Given the description of an element on the screen output the (x, y) to click on. 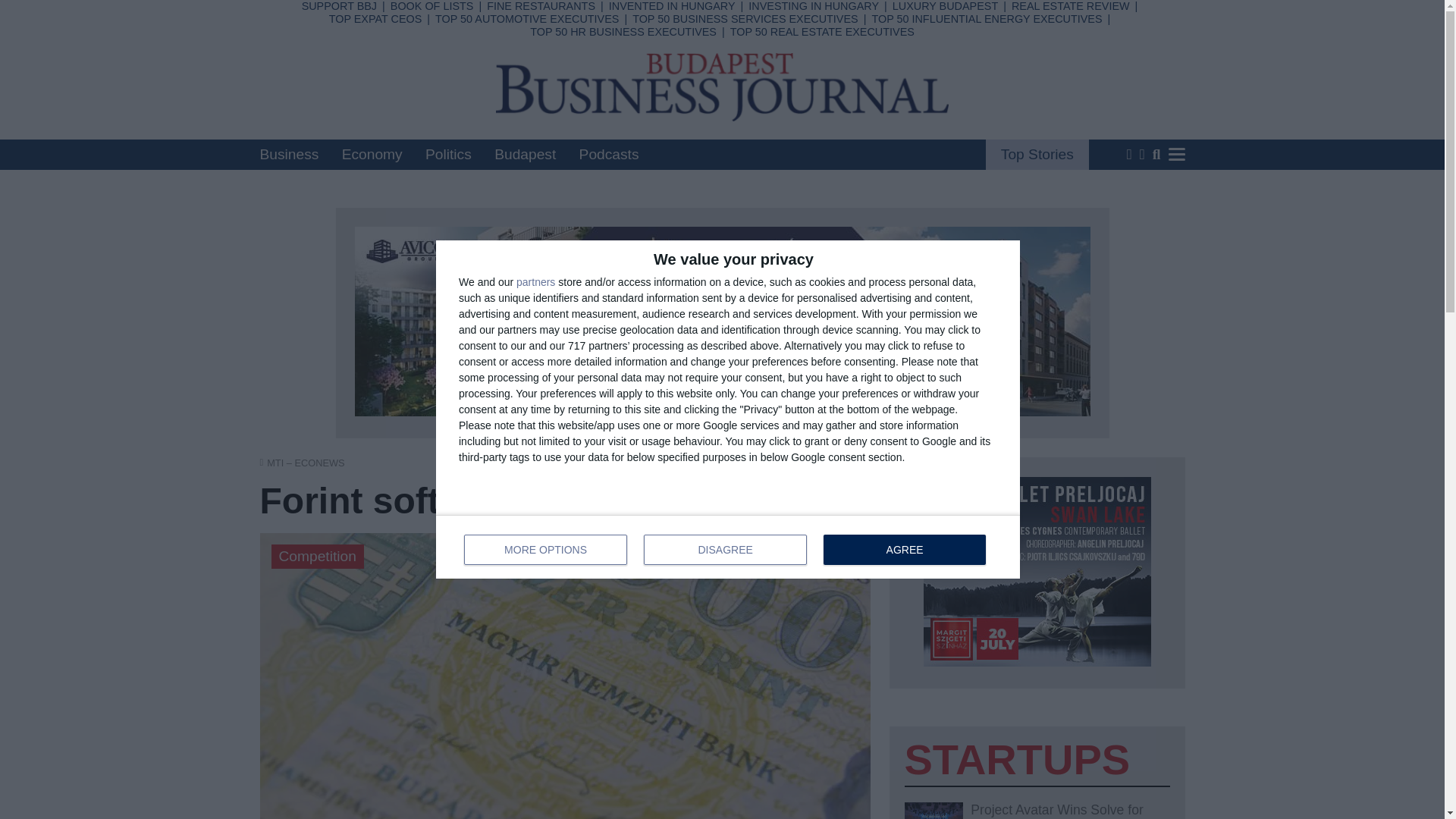
LUXURY BUDAPEST (944, 6)
Business (537, 13)
Budapest (525, 154)
TOP 50 REAL ESTATE EXECUTIVES (822, 31)
INVESTING IN HUNGARY (813, 6)
Environment (727, 546)
TOP 50 AUTOMOTIVE EXECUTIVES (665, 92)
Politics (526, 19)
TOP EXPAT CEOS (448, 154)
AGREE (375, 19)
TOP 50 INFLUENTIAL ENERGY EXECUTIVES (904, 549)
Business (986, 19)
Industry (288, 154)
Top Stories (529, 72)
